Given the description of an element on the screen output the (x, y) to click on. 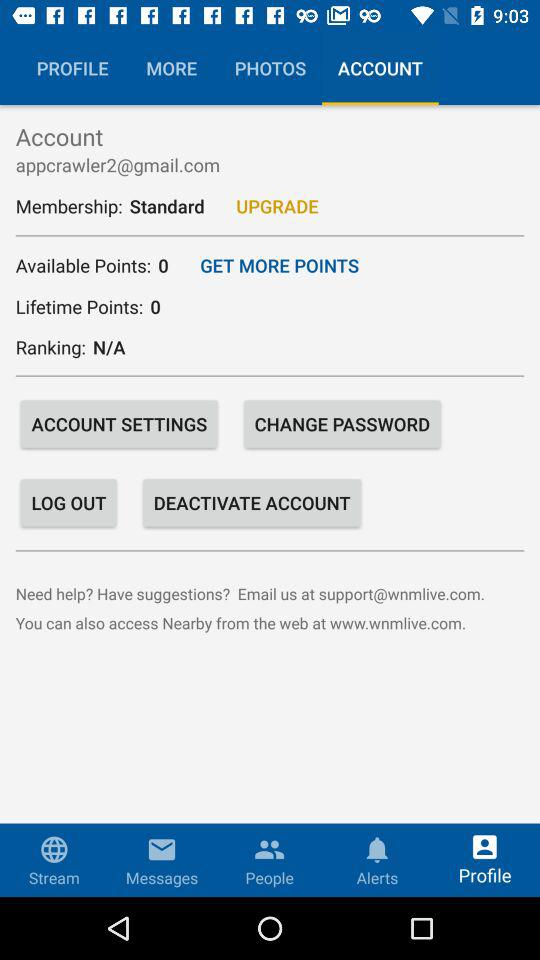
jump until the change password (341, 423)
